Given the description of an element on the screen output the (x, y) to click on. 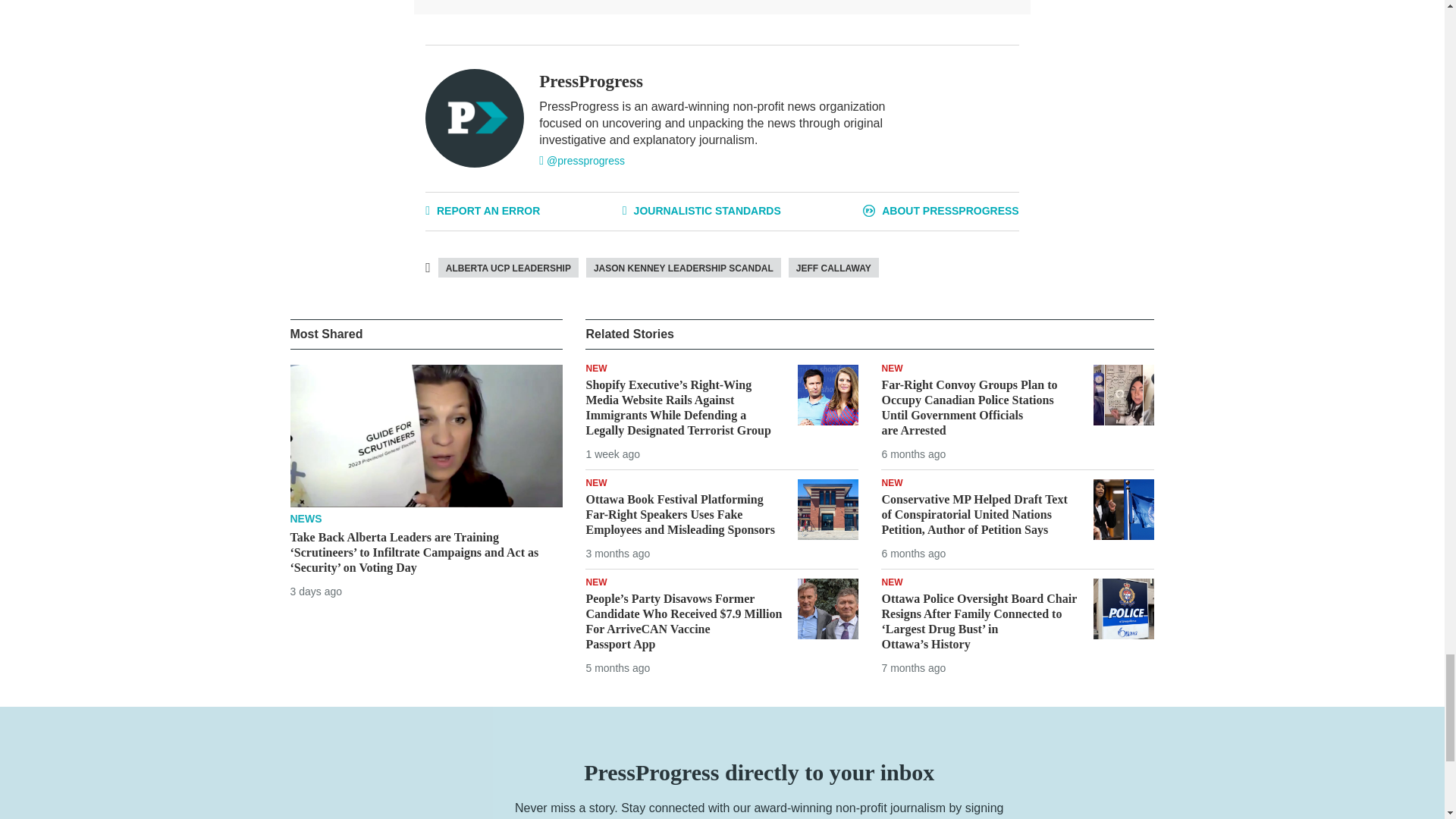
JOURNALISTIC STANDARDS (701, 210)
ALBERTA UCP LEADERSHIP (508, 267)
JASON KENNEY LEADERSHIP SCANDAL (683, 267)
REPORT AN ERROR (482, 210)
ABOUT PRESSPROGRESS (940, 210)
JEFF CALLAWAY (834, 267)
